Given the description of an element on the screen output the (x, y) to click on. 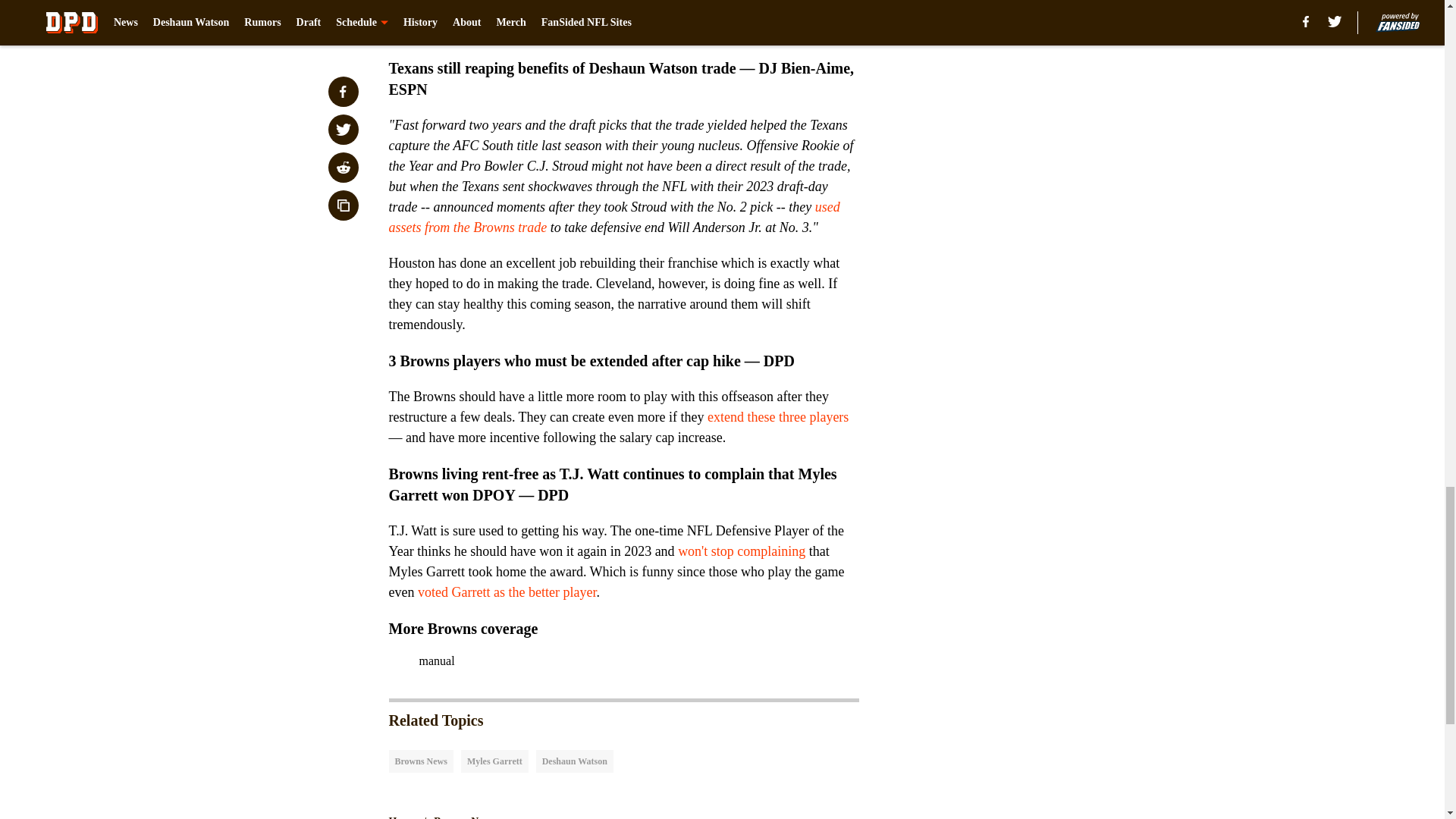
Myles Garrett (494, 761)
won't stop complaining (741, 550)
Browns News (464, 816)
used assets from the Browns trade (614, 217)
extend these three players (777, 417)
Browns News (420, 761)
Home (401, 816)
Deshaun Watson (573, 761)
voted Garrett as the better player (506, 591)
